Given the description of an element on the screen output the (x, y) to click on. 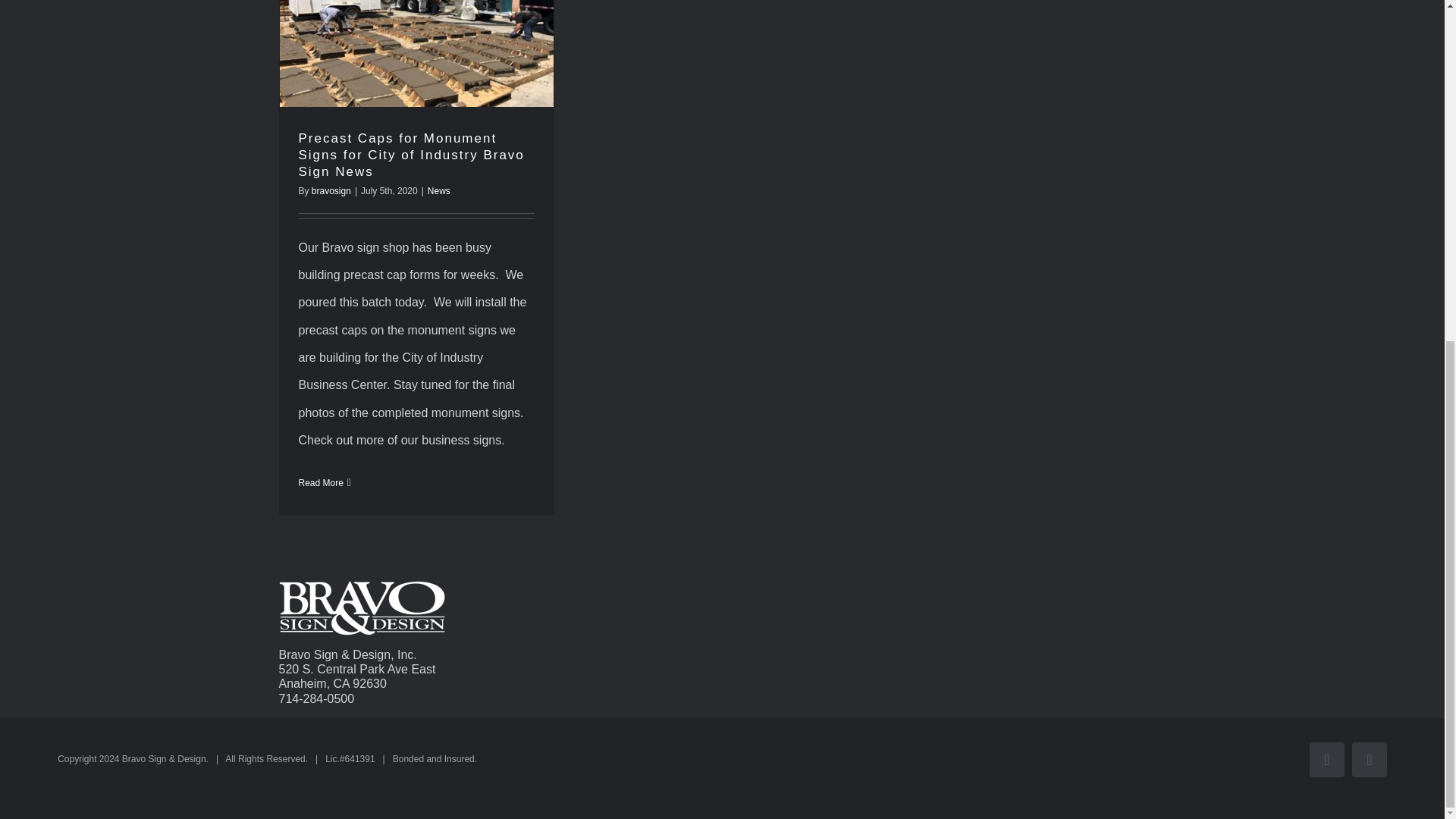
Instagram (1369, 759)
Posts by bravosign (330, 190)
Read More (320, 482)
Facebook (1325, 759)
Instagram (1369, 759)
News (438, 190)
bravosign (330, 190)
Facebook (1325, 759)
